Given the description of an element on the screen output the (x, y) to click on. 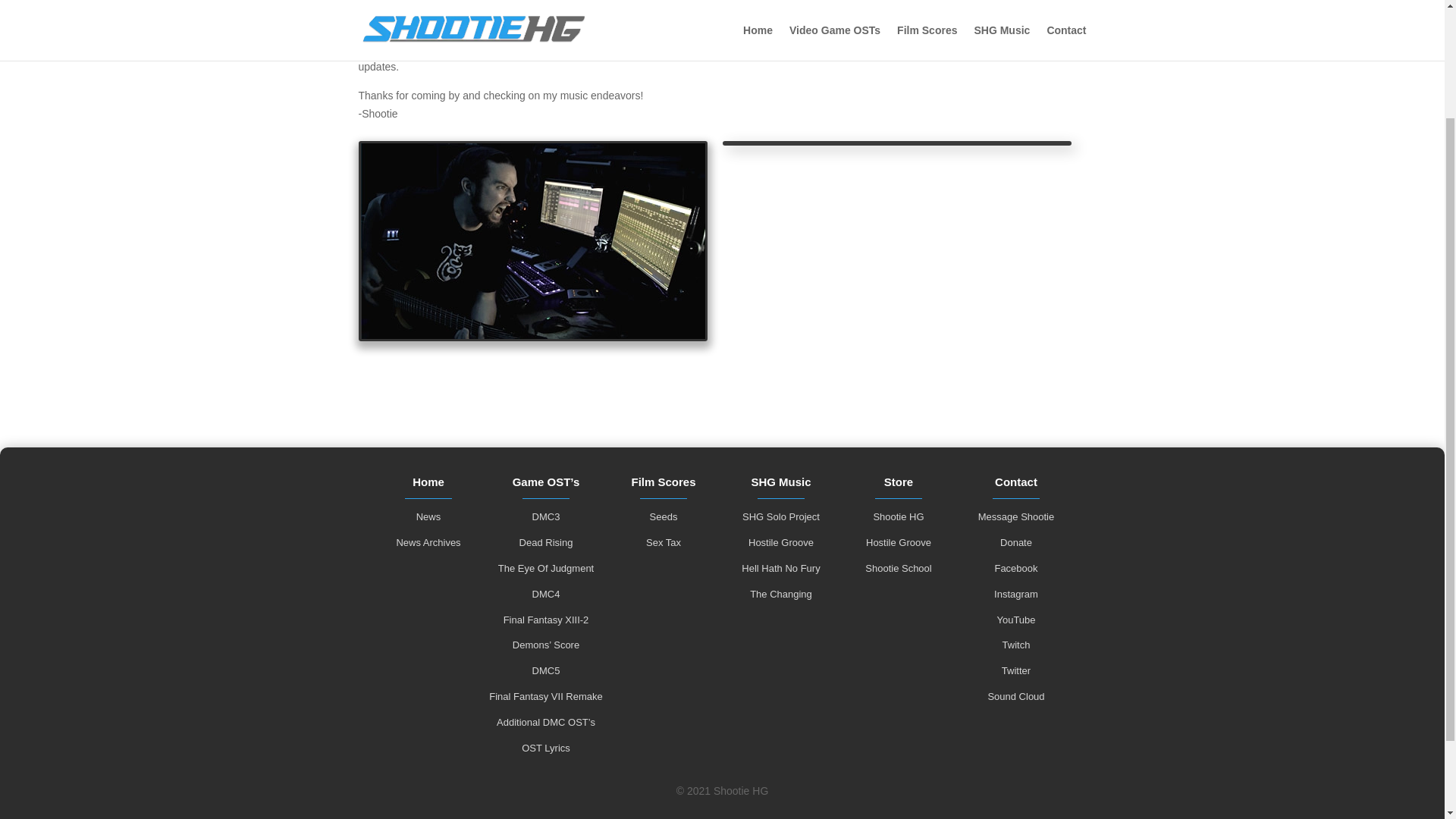
merch (738, 12)
Facebook (748, 48)
PayPal - The safer, easier way to pay online! (938, 3)
YouTube (645, 48)
